Given the description of an element on the screen output the (x, y) to click on. 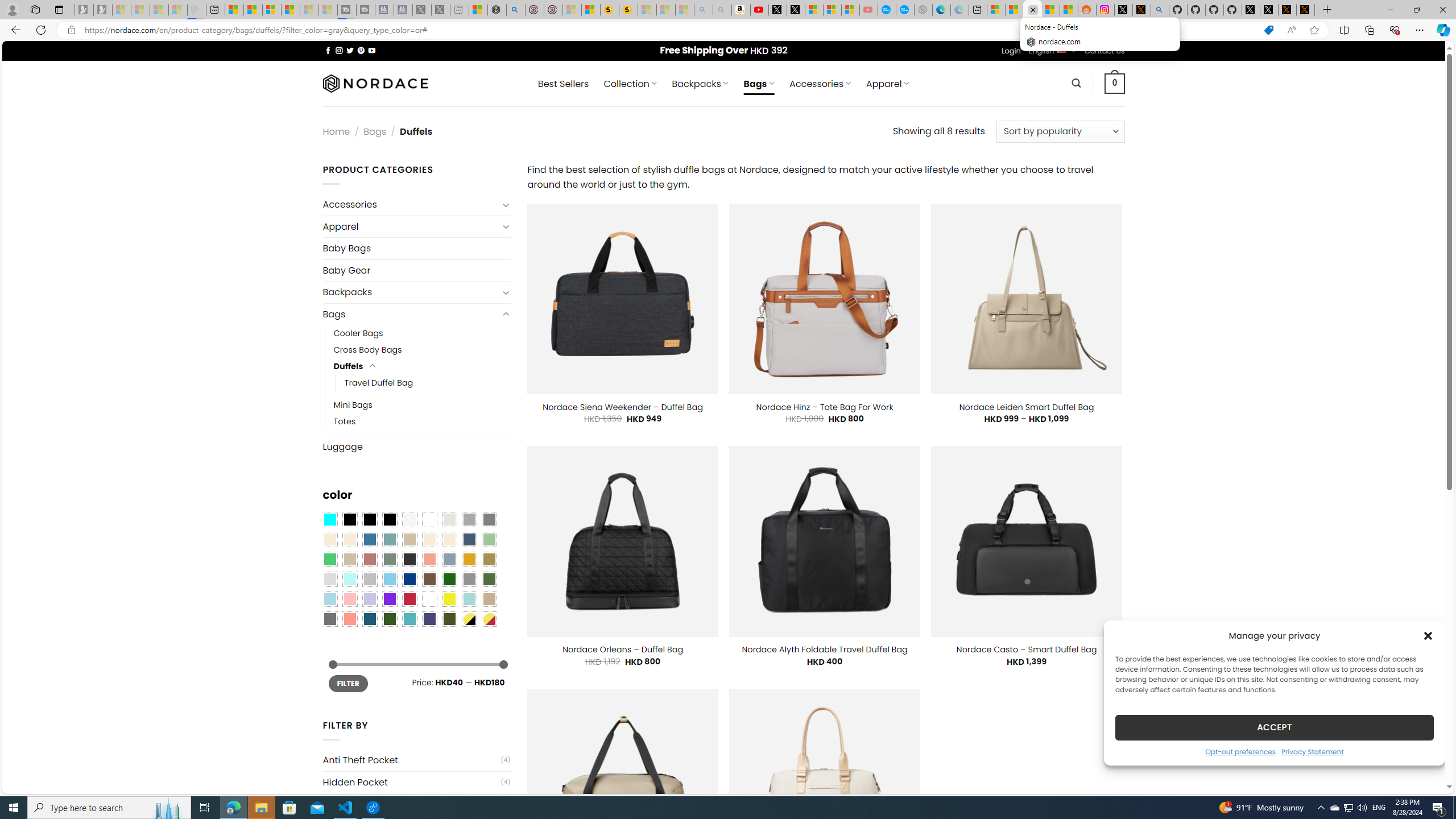
Black (369, 519)
GitHub (@github) / X (1268, 9)
Dark Green (449, 579)
Nordace - Duffels (1032, 9)
Cross Body Bags (422, 349)
Ash Gray (449, 519)
Light Gray (329, 579)
